Given the description of an element on the screen output the (x, y) to click on. 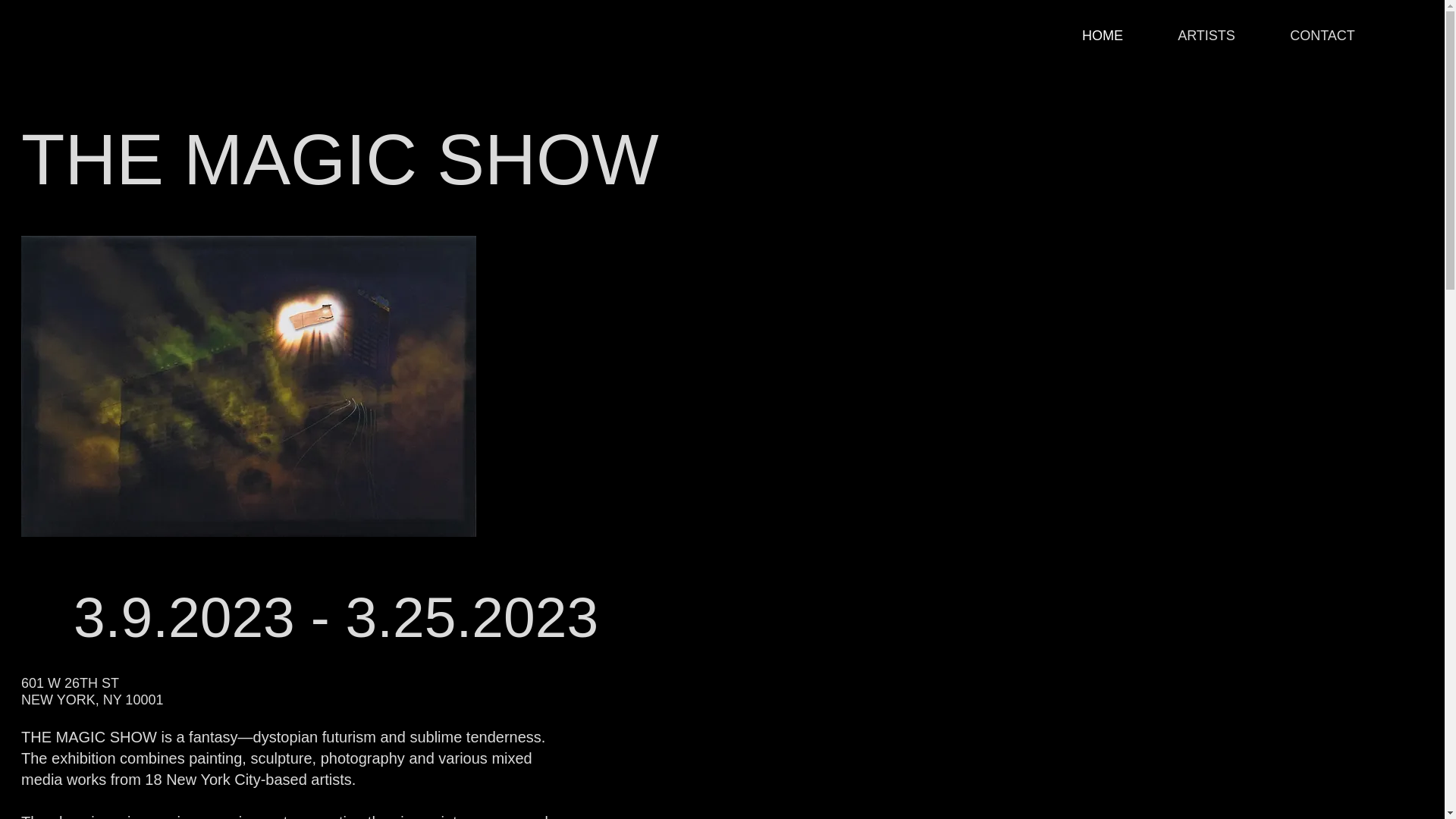
CONTACT (1322, 35)
HOME (1102, 35)
ARTISTS (1206, 35)
